Given the description of an element on the screen output the (x, y) to click on. 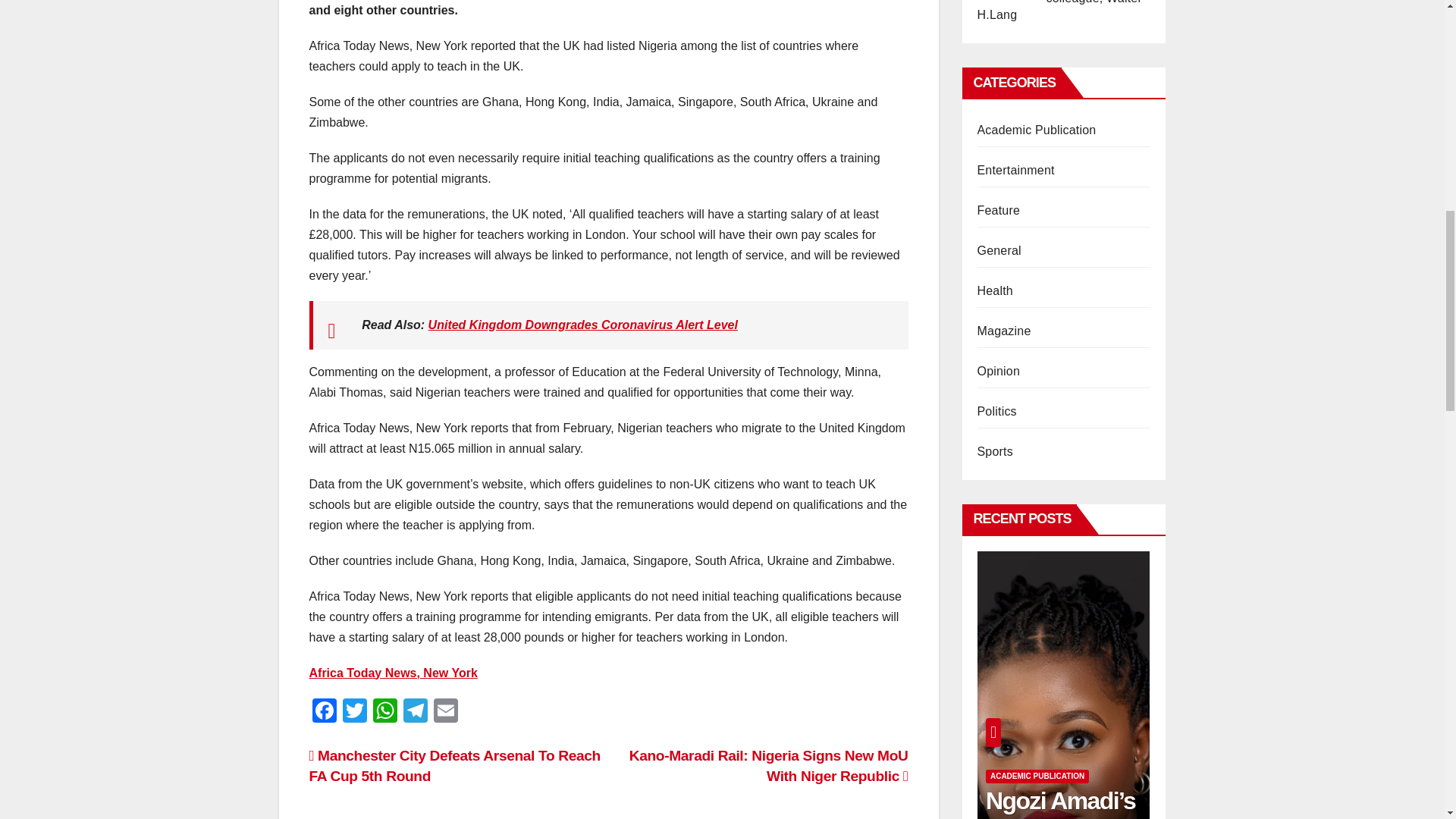
Telegram (415, 712)
Kano-Maradi Rail: Nigeria Signs New MoU With Niger Republic (768, 765)
WhatsApp (384, 712)
Twitter (354, 712)
United Kingdom Downgrades Coronavirus Alert Level (583, 324)
Manchester City Defeats Arsenal To Reach FA Cup 5th Round (453, 765)
Facebook (323, 712)
WhatsApp (384, 712)
Email (445, 712)
Africa Today News, New York (392, 672)
Twitter (354, 712)
Facebook (323, 712)
Telegram (415, 712)
Email (445, 712)
